Given the description of an element on the screen output the (x, y) to click on. 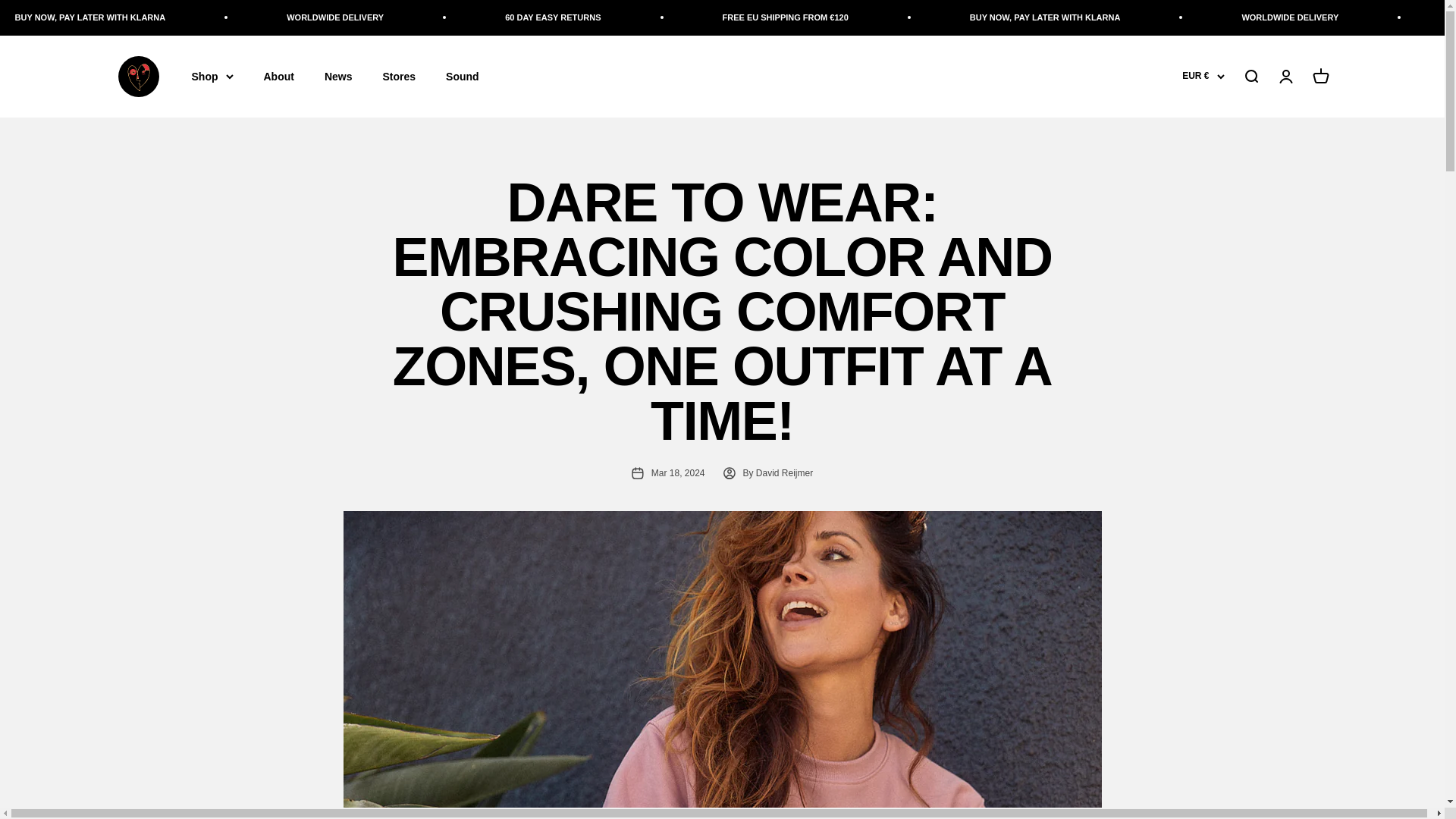
Collect The Label (137, 76)
Sound (462, 75)
About (278, 75)
Stores (399, 75)
News (338, 75)
